Given the description of an element on the screen output the (x, y) to click on. 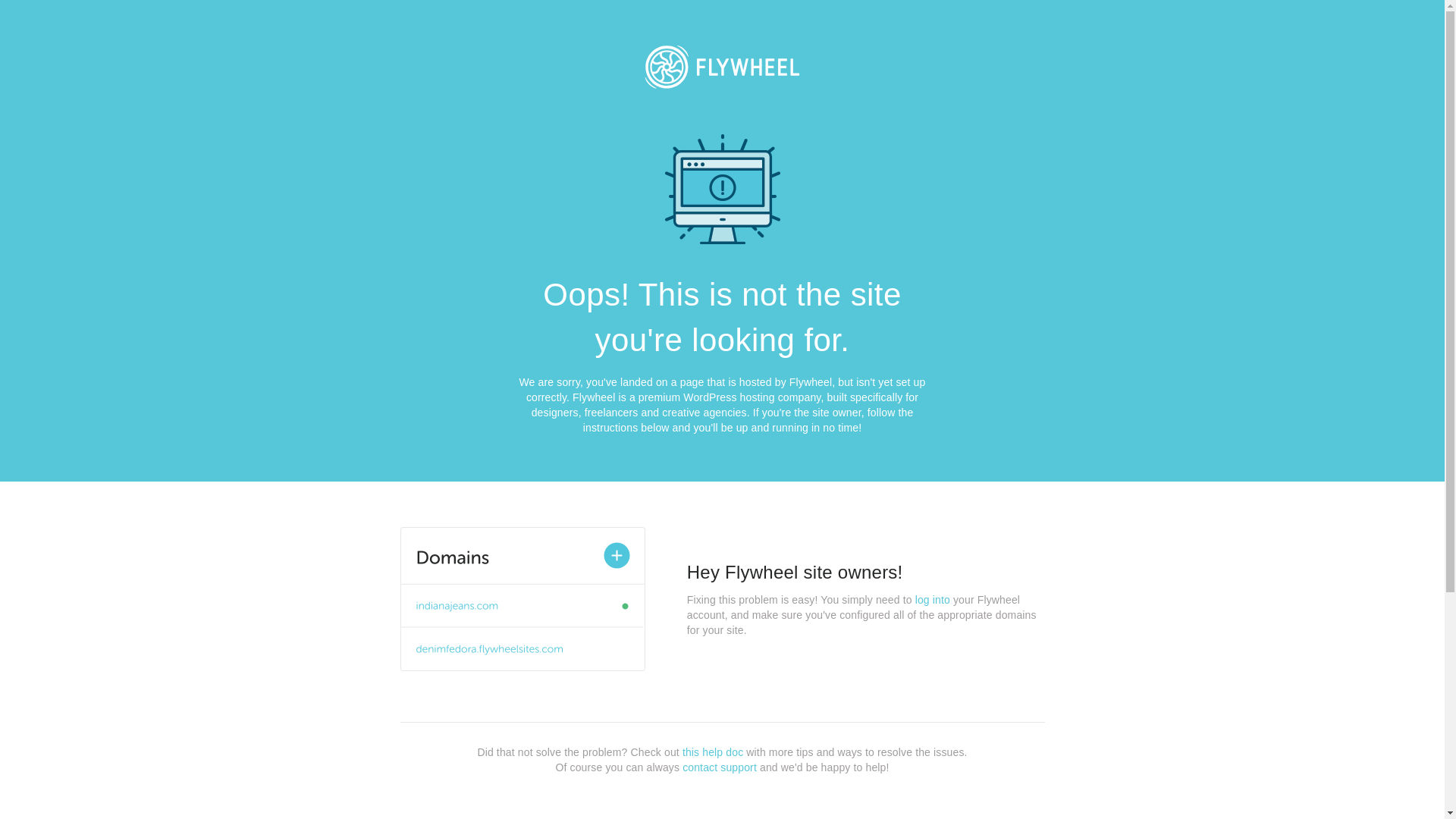
this help doc (712, 752)
contact support (719, 767)
log into (932, 599)
